Given the description of an element on the screen output the (x, y) to click on. 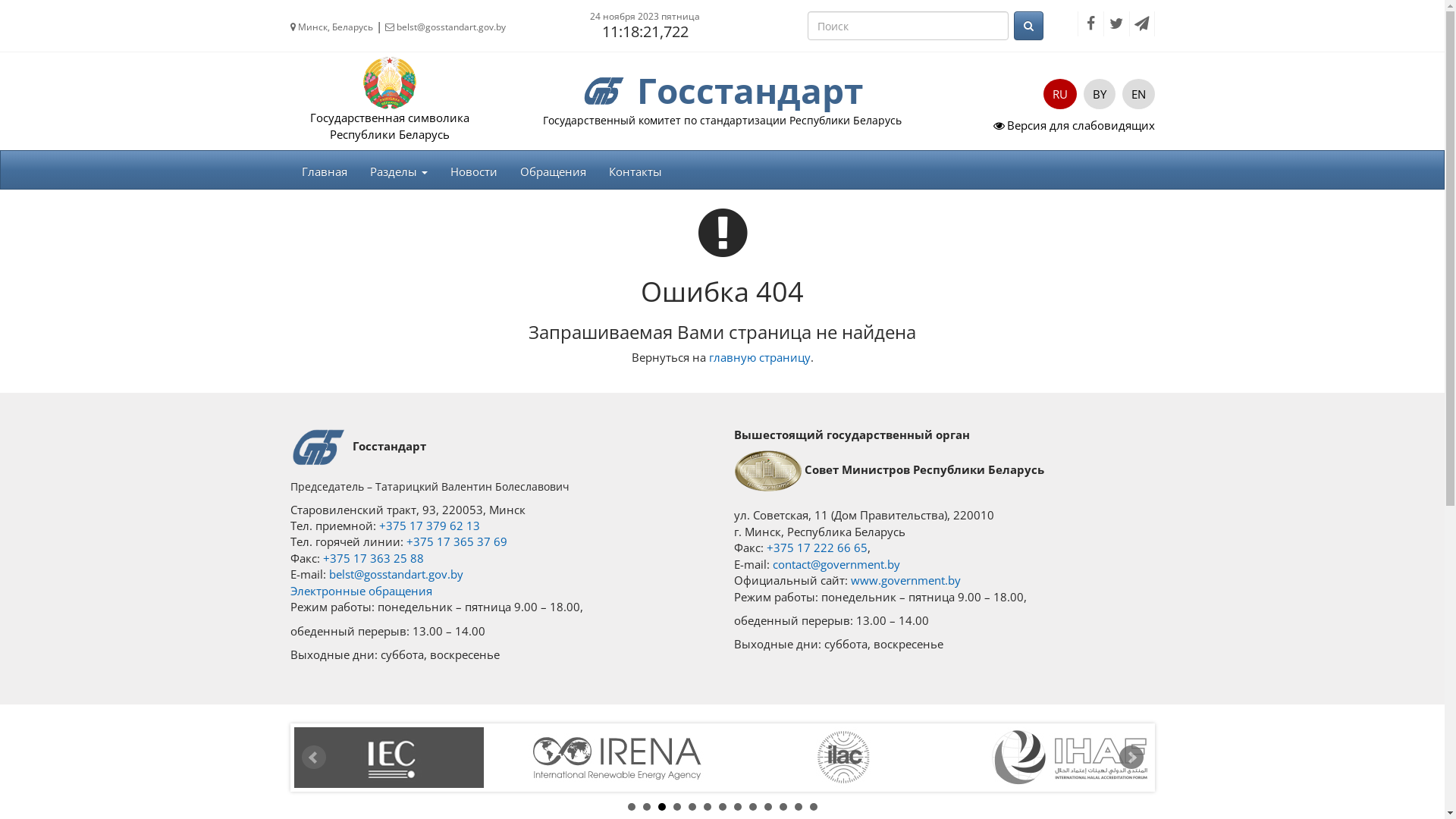
10 Element type: text (767, 806)
3 Element type: text (661, 806)
5 Element type: text (692, 806)
Prev Element type: text (313, 757)
Facebook Element type: hover (1089, 23)
4 Element type: text (676, 806)
12 Element type: text (798, 806)
Telegram Element type: hover (1141, 23)
contact@government.by Element type: text (833, 563)
2 Element type: text (646, 806)
+375 17 379 62 13 Element type: text (429, 525)
8 Element type: text (737, 806)
belst@gosstandart.gov.by Element type: text (396, 573)
7 Element type: text (722, 806)
Next Element type: text (1131, 757)
belst@gosstandart.gov.by Element type: text (445, 27)
Twitter Element type: hover (1115, 23)
www.government.by Element type: text (905, 579)
13 Element type: text (813, 806)
1 Element type: text (631, 806)
+375 17 365 37 69 Element type: text (456, 541)
9 Element type: text (752, 806)
EN Element type: text (1138, 93)
11 Element type: text (783, 806)
RU Element type: text (1060, 93)
+375 17 222 66 65 Element type: text (815, 547)
BY Element type: text (1098, 93)
+375 17 363 25 88 Element type: text (373, 557)
6 Element type: text (707, 806)
